Given the description of an element on the screen output the (x, y) to click on. 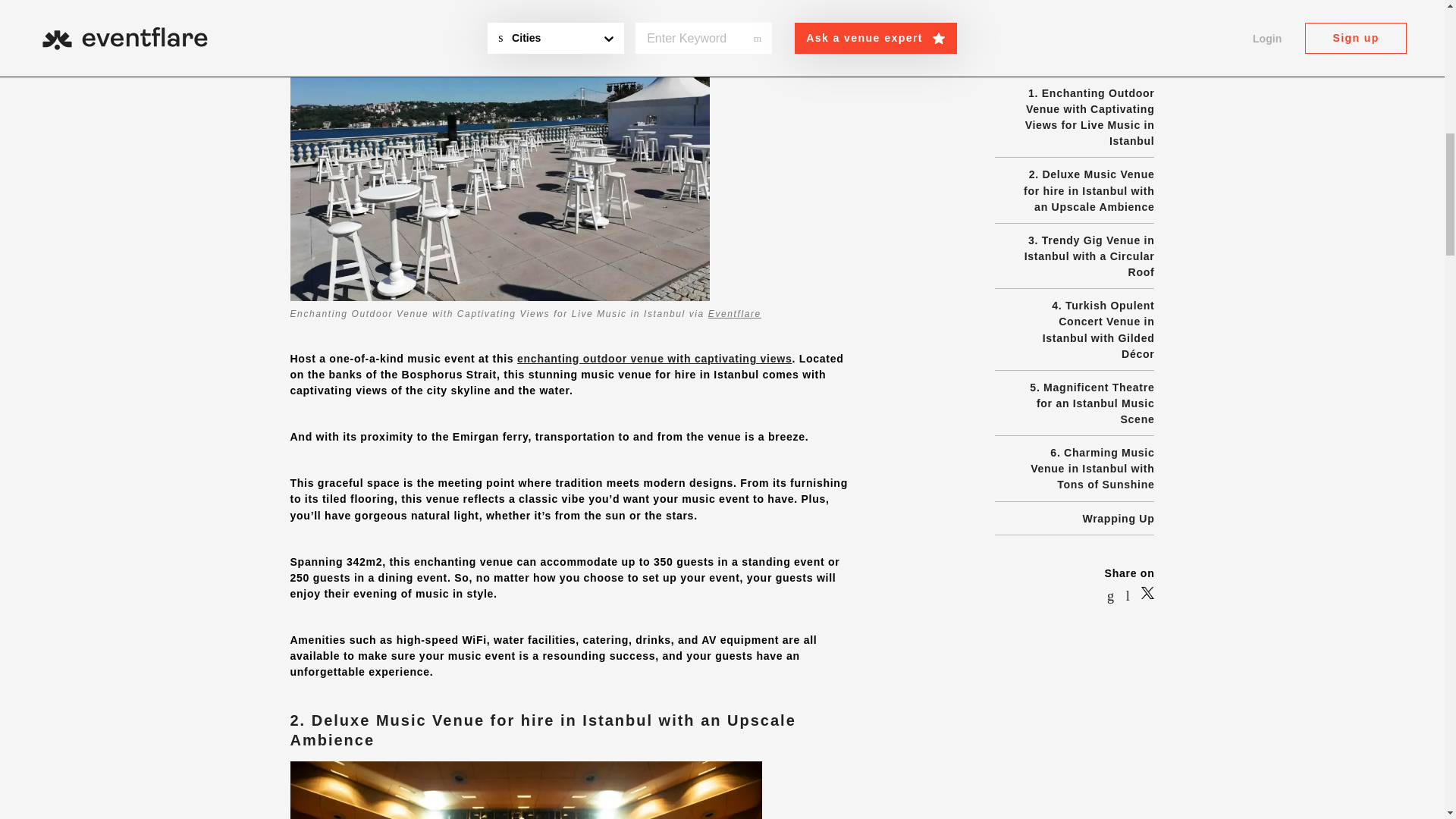
Wrapping Up (1117, 209)
Wrapping Up (1117, 209)
5. Magnificent Theatre for an Istanbul Music Scene (1085, 93)
enchanting outdoor venue with captivating views (654, 358)
5. Magnificent Theatre for an Istanbul Music Scene (1085, 93)
6. Charming Music Venue in Istanbul with Tons of Sunshine (1085, 159)
Eventflare (734, 313)
6. Charming Music Venue in Istanbul with Tons of Sunshine (1085, 159)
